Given the description of an element on the screen output the (x, y) to click on. 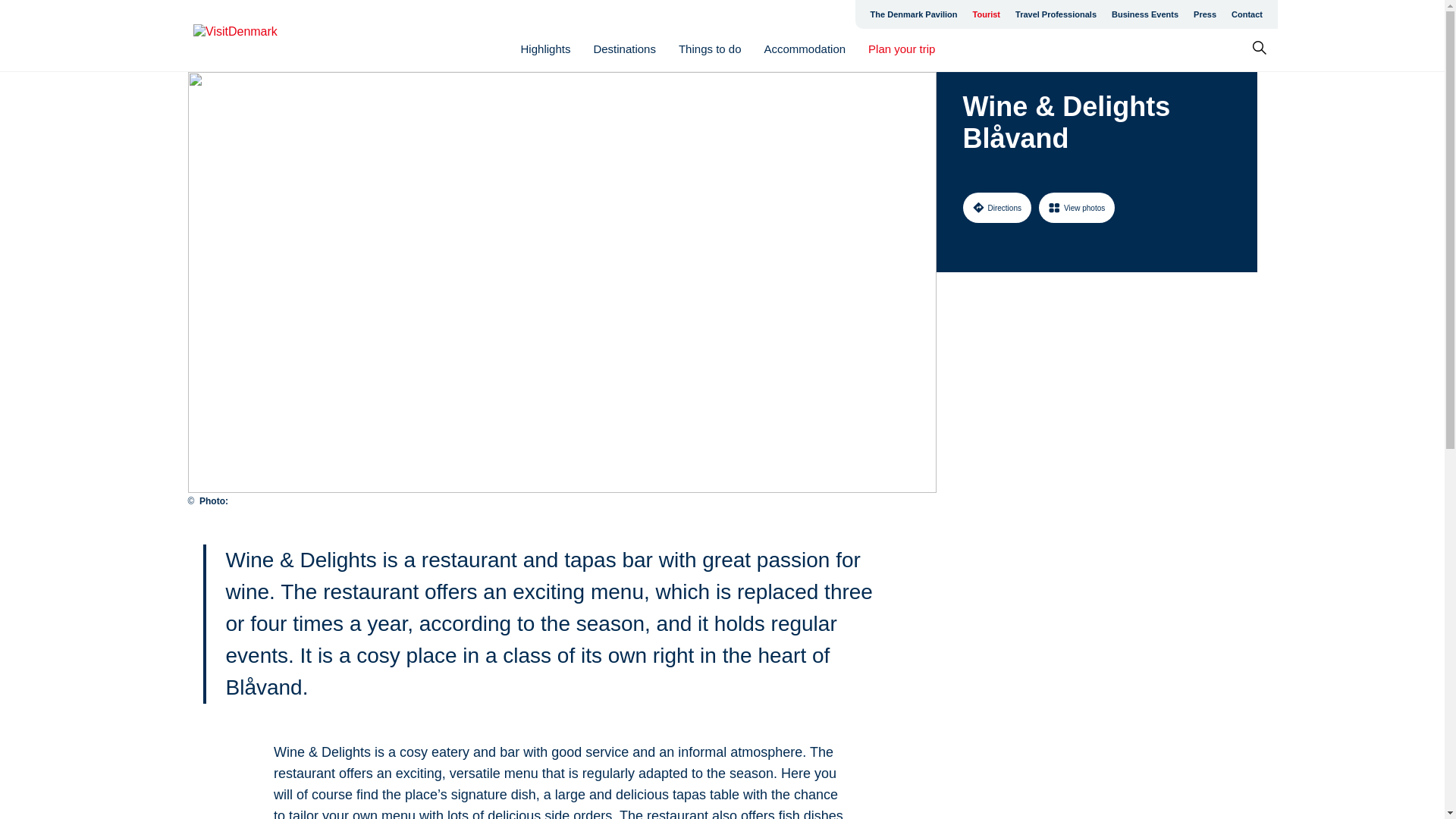
Accommodation (804, 48)
The Denmark Pavilion (914, 14)
Things to do (709, 48)
Press (1205, 14)
Destinations (624, 48)
Highlights (545, 48)
Contact (1246, 14)
View photos (1077, 207)
Go to homepage (253, 35)
Travel Professionals (1055, 14)
Directions (996, 207)
Tourist (986, 14)
Business Events (1144, 14)
Plan your trip (900, 48)
